Given the description of an element on the screen output the (x, y) to click on. 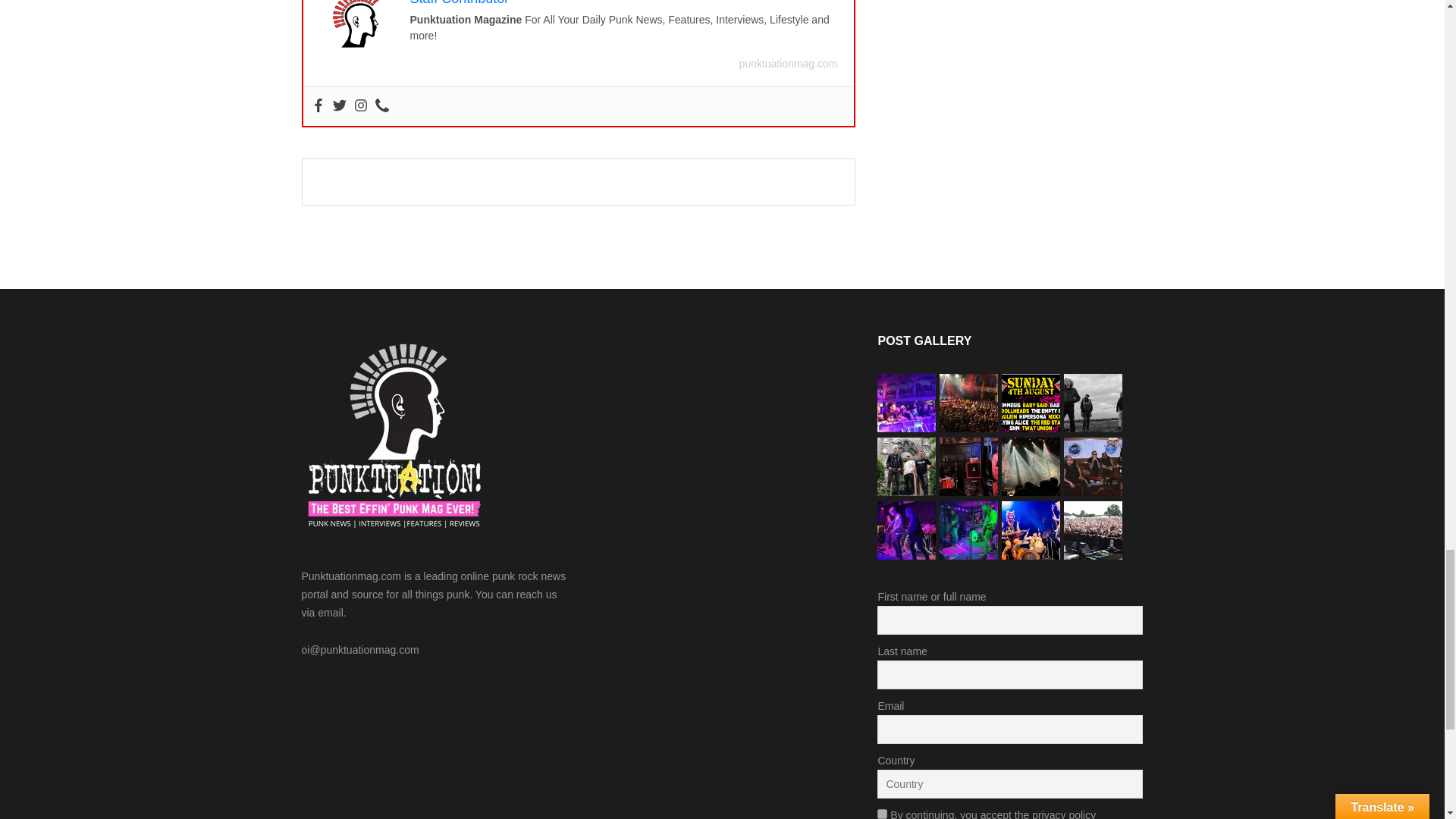
punktuationmag.com (788, 63)
Staff Contributor (458, 2)
on (881, 814)
